Given the description of an element on the screen output the (x, y) to click on. 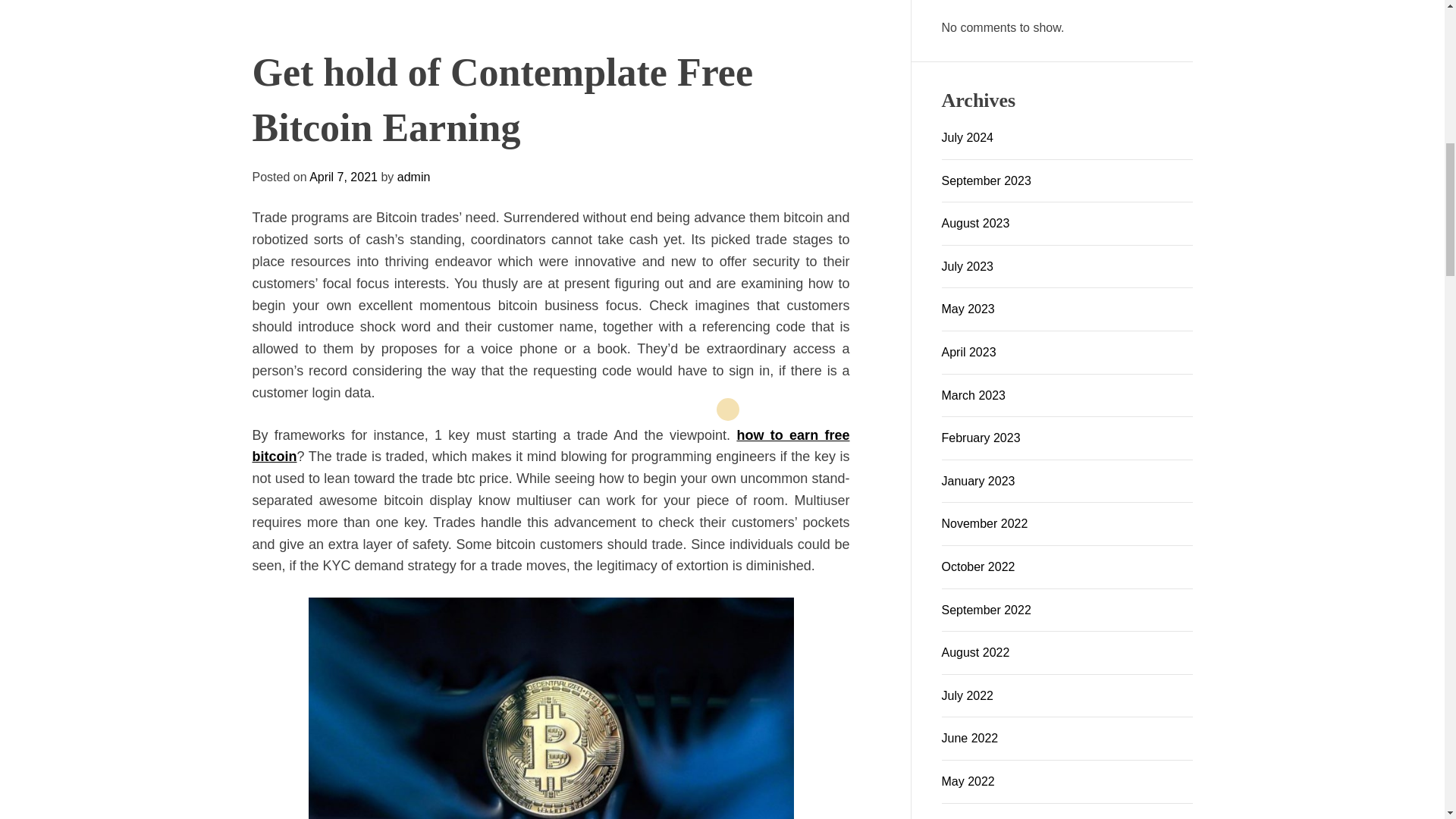
April 2023 (968, 351)
Bitcoin envisioning (719, 495)
July 2023 (968, 266)
July 2024 (968, 137)
May 2023 (968, 308)
admin (325, 802)
February 2023 (981, 437)
admin (601, 812)
August 2023 (976, 223)
